Given the description of an element on the screen output the (x, y) to click on. 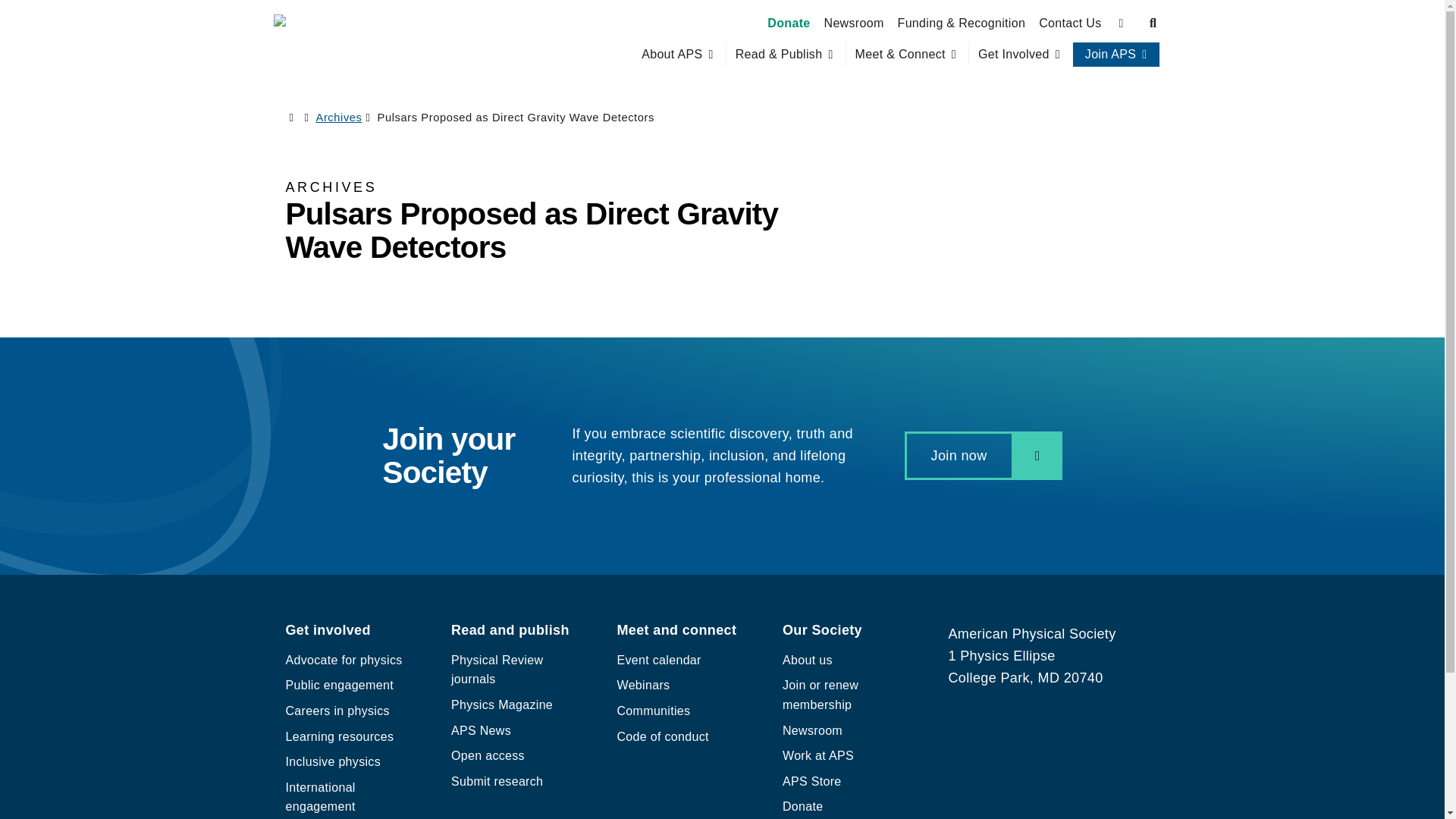
View About APS options (679, 54)
About APS (671, 54)
